Given the description of an element on the screen output the (x, y) to click on. 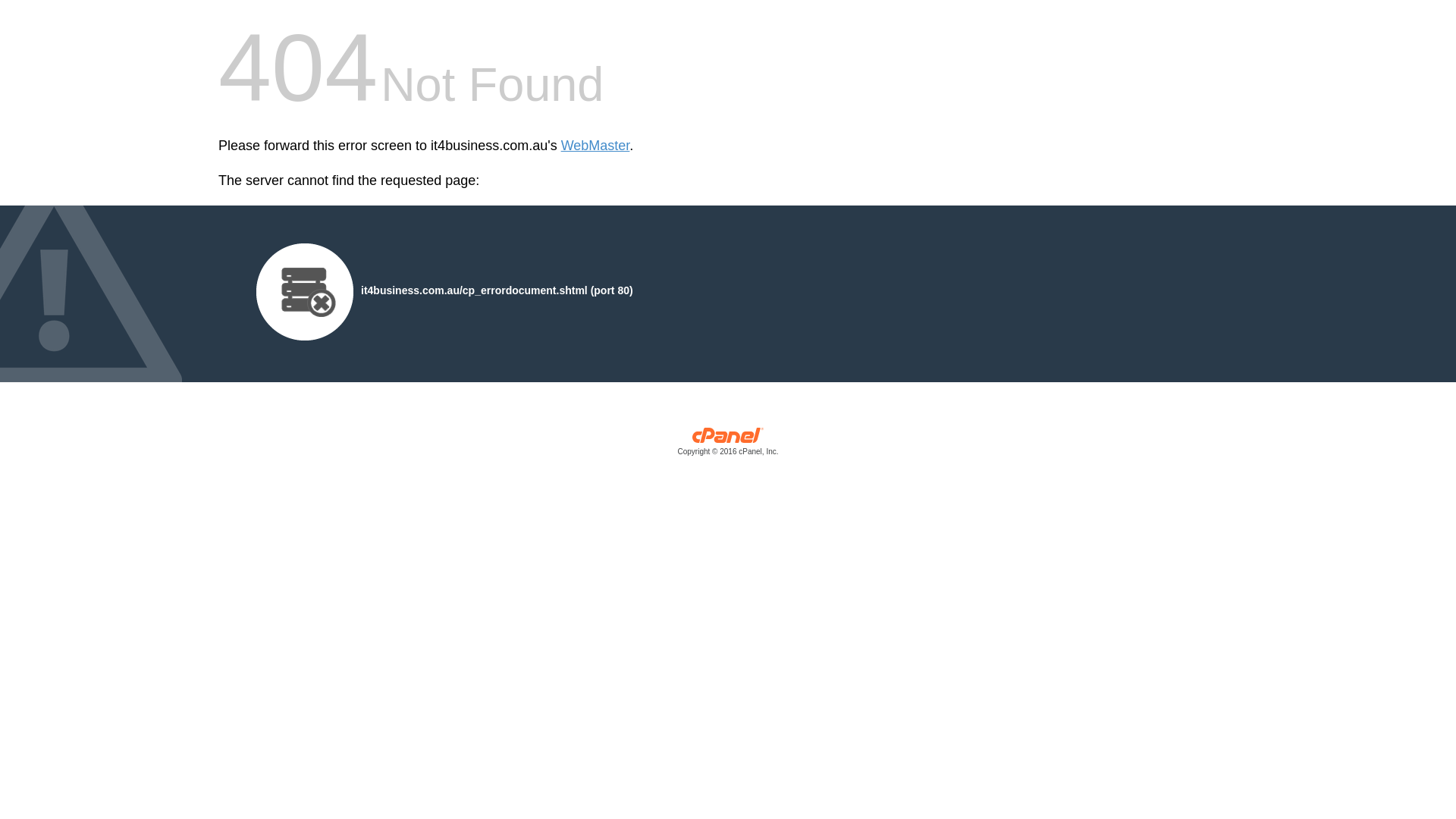
WebMaster Element type: text (595, 145)
